Given the description of an element on the screen output the (x, y) to click on. 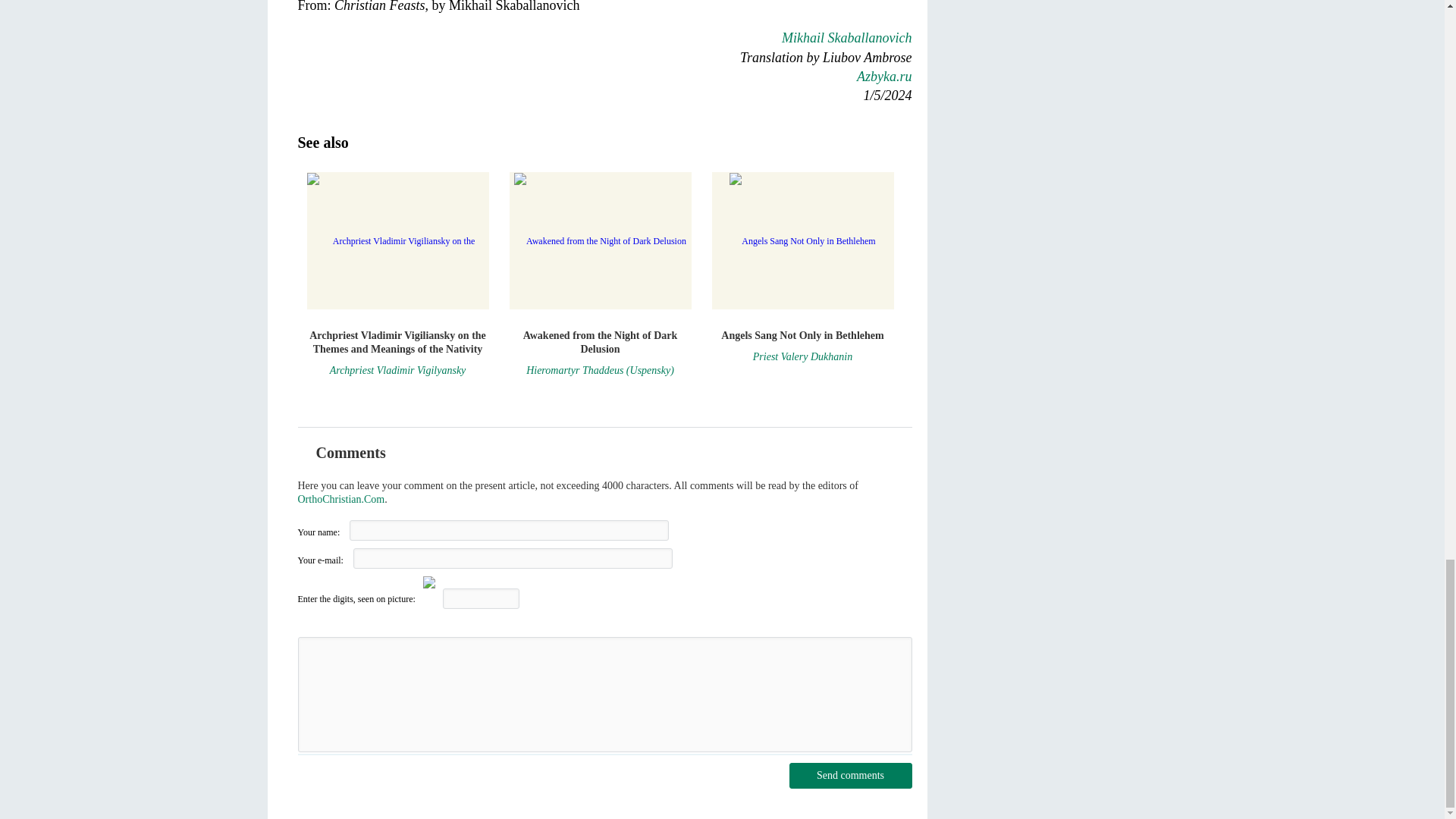
Azbyka.ru (884, 76)
Mikhail Skaballanovich (846, 37)
